Given the description of an element on the screen output the (x, y) to click on. 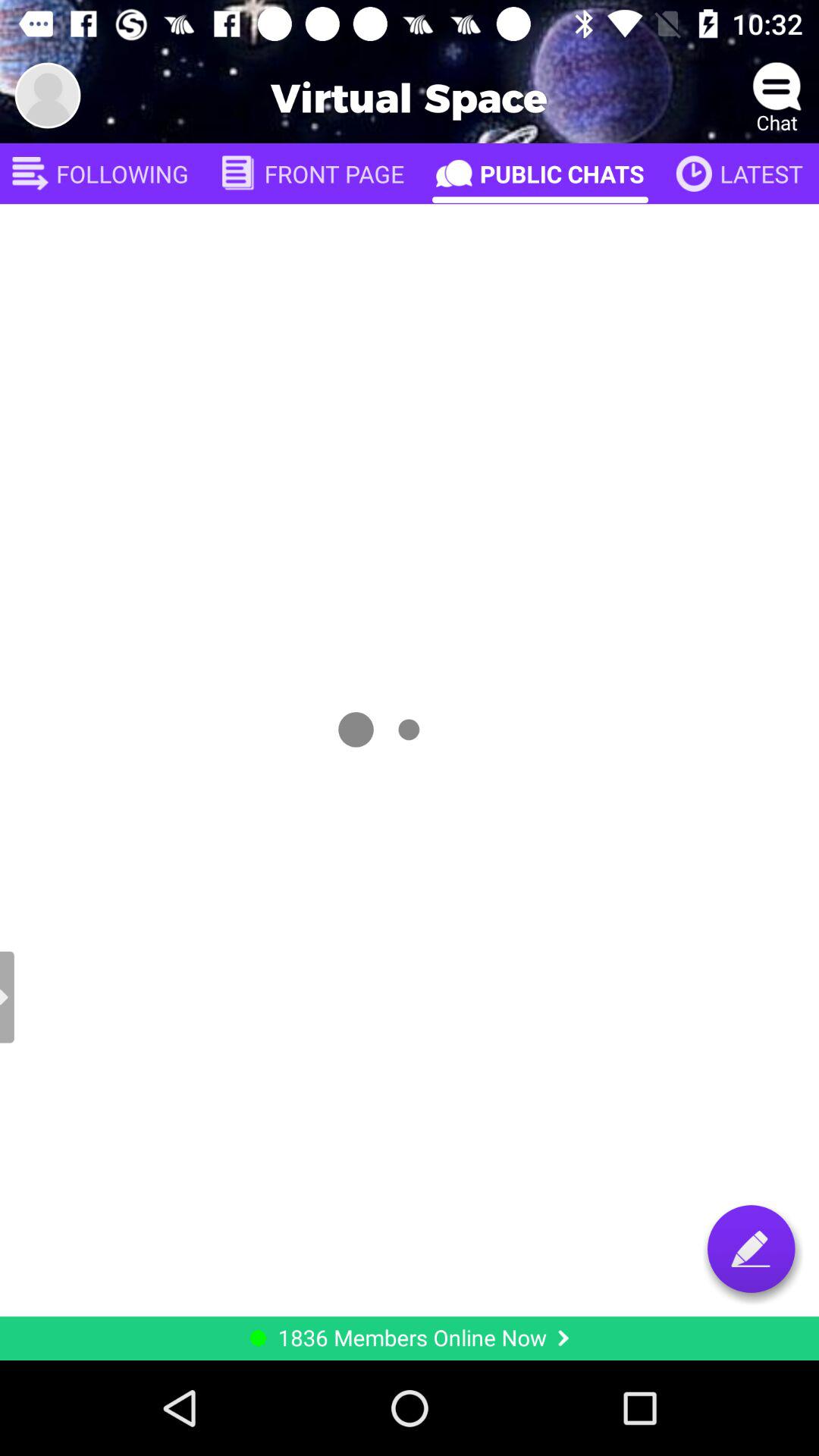
new (751, 1248)
